Given the description of an element on the screen output the (x, y) to click on. 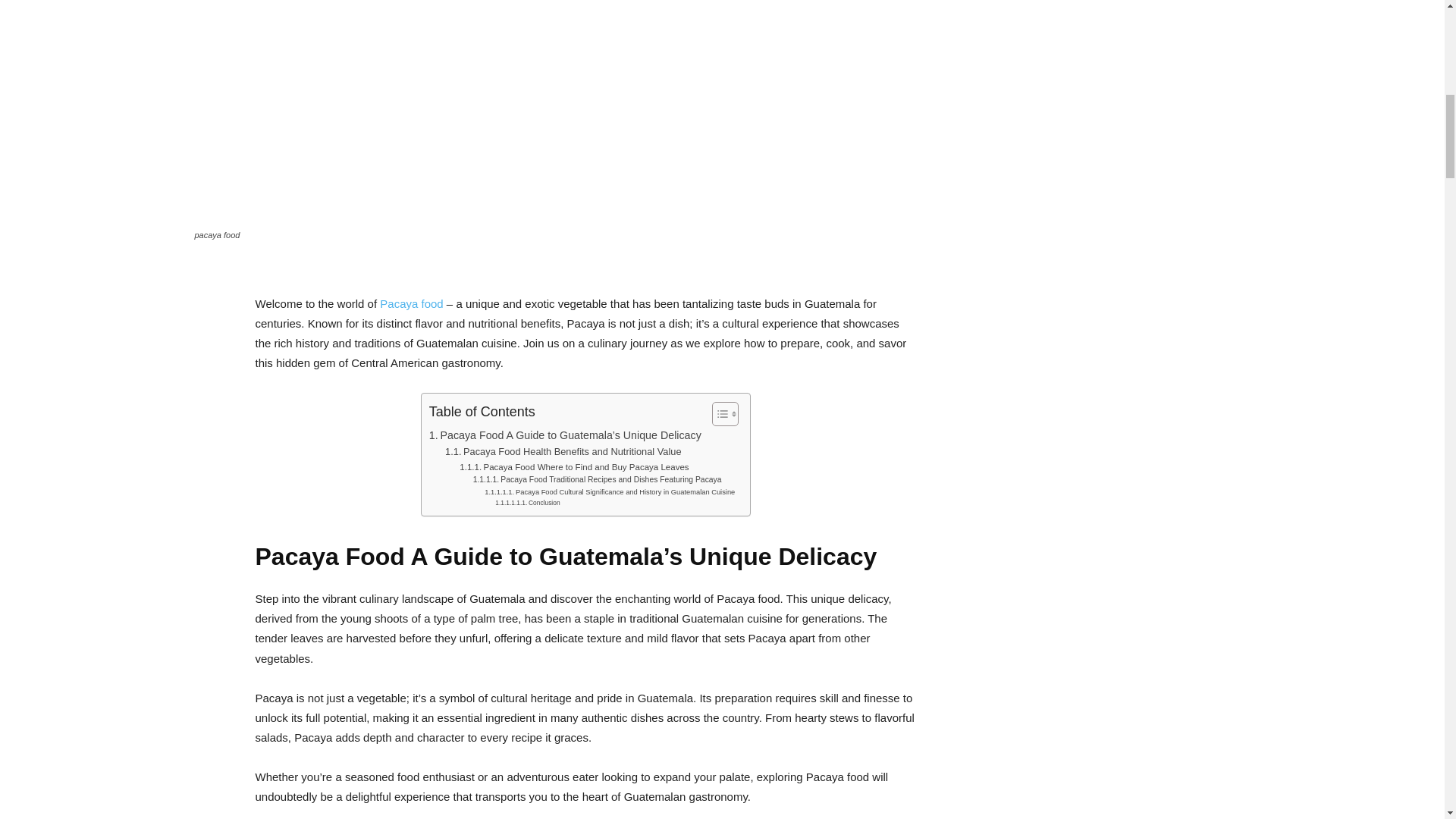
Pacaya Food Health Benefits and Nutritional Value (563, 452)
Pacaya Food Traditional Recipes and Dishes Featuring Pacaya (597, 480)
Pacaya Food Health Benefits and Nutritional Value (563, 452)
Pacaya Food Where to Find and Buy Pacaya Leaves (574, 467)
Pacaya food (411, 303)
Pacaya Food Where to Find and Buy Pacaya Leaves (574, 467)
